Given the description of an element on the screen output the (x, y) to click on. 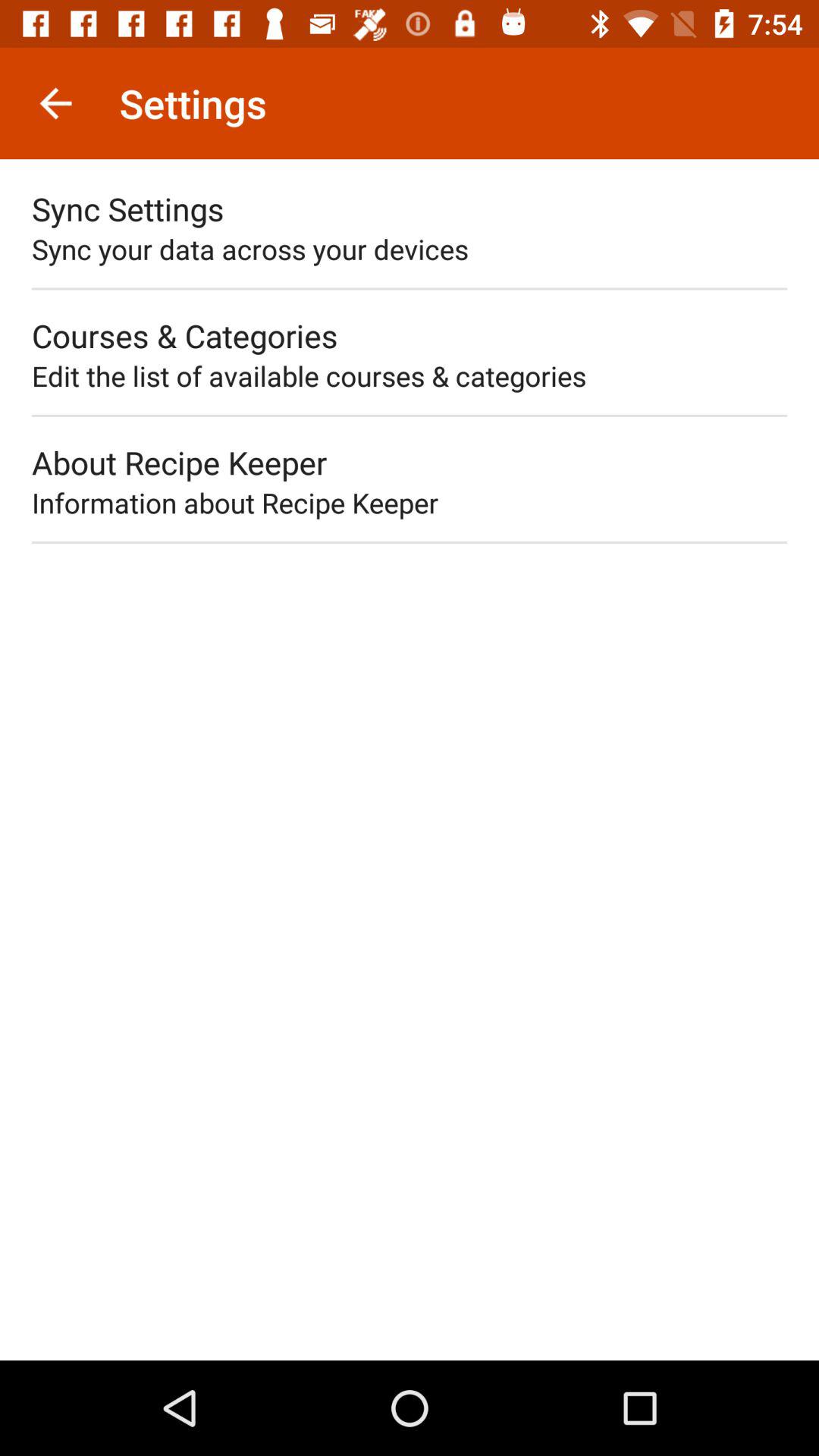
launch icon above sync settings (55, 103)
